Given the description of an element on the screen output the (x, y) to click on. 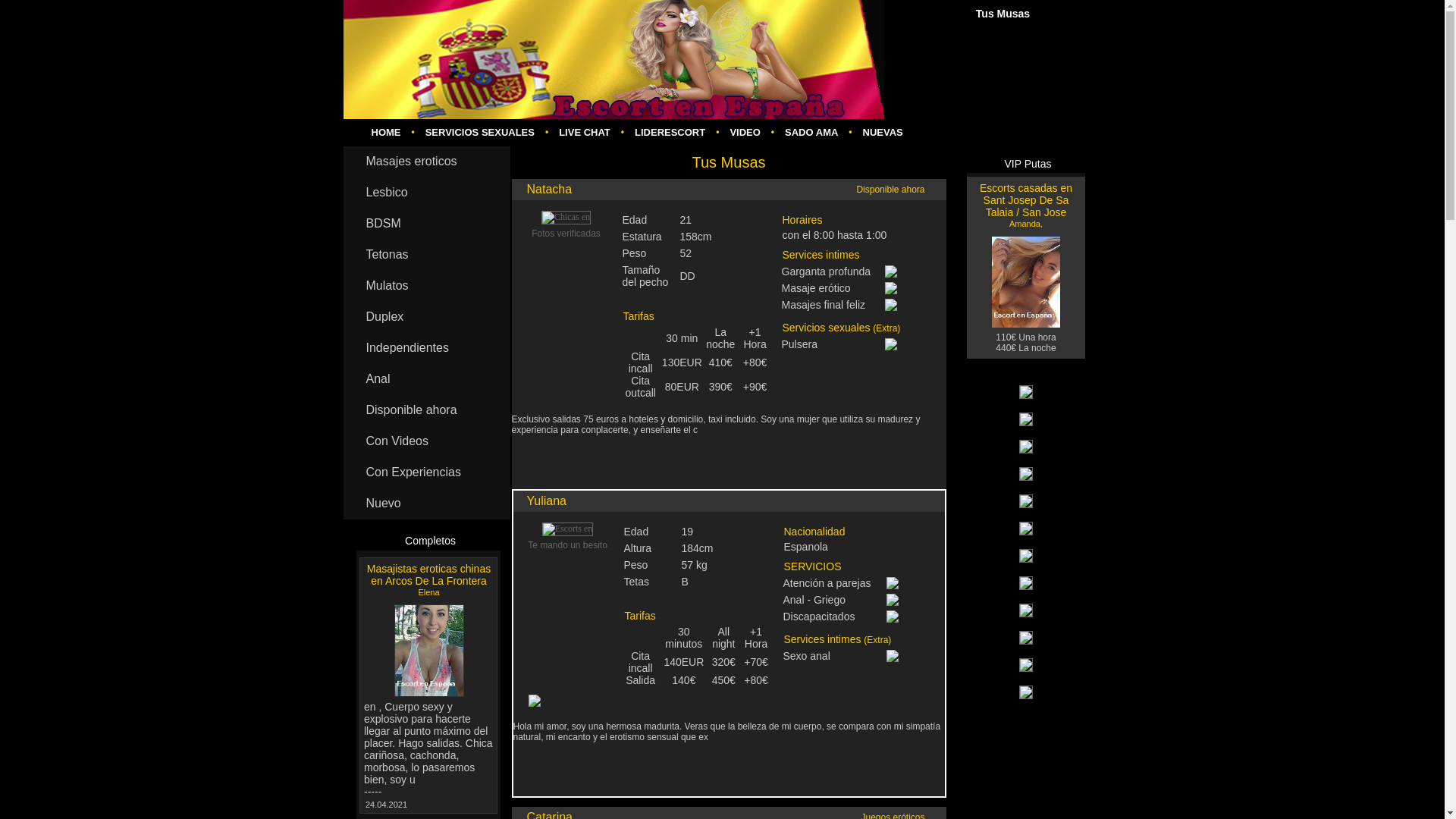
HOME (386, 131)
Disponible ahora (425, 409)
LIVE CHAT (584, 131)
Con Videos (425, 441)
BDSM (425, 223)
SADO AMA (811, 131)
Lesbico (425, 192)
NUEVAS (883, 131)
Anal (425, 378)
Independientes (425, 347)
